Given the description of an element on the screen output the (x, y) to click on. 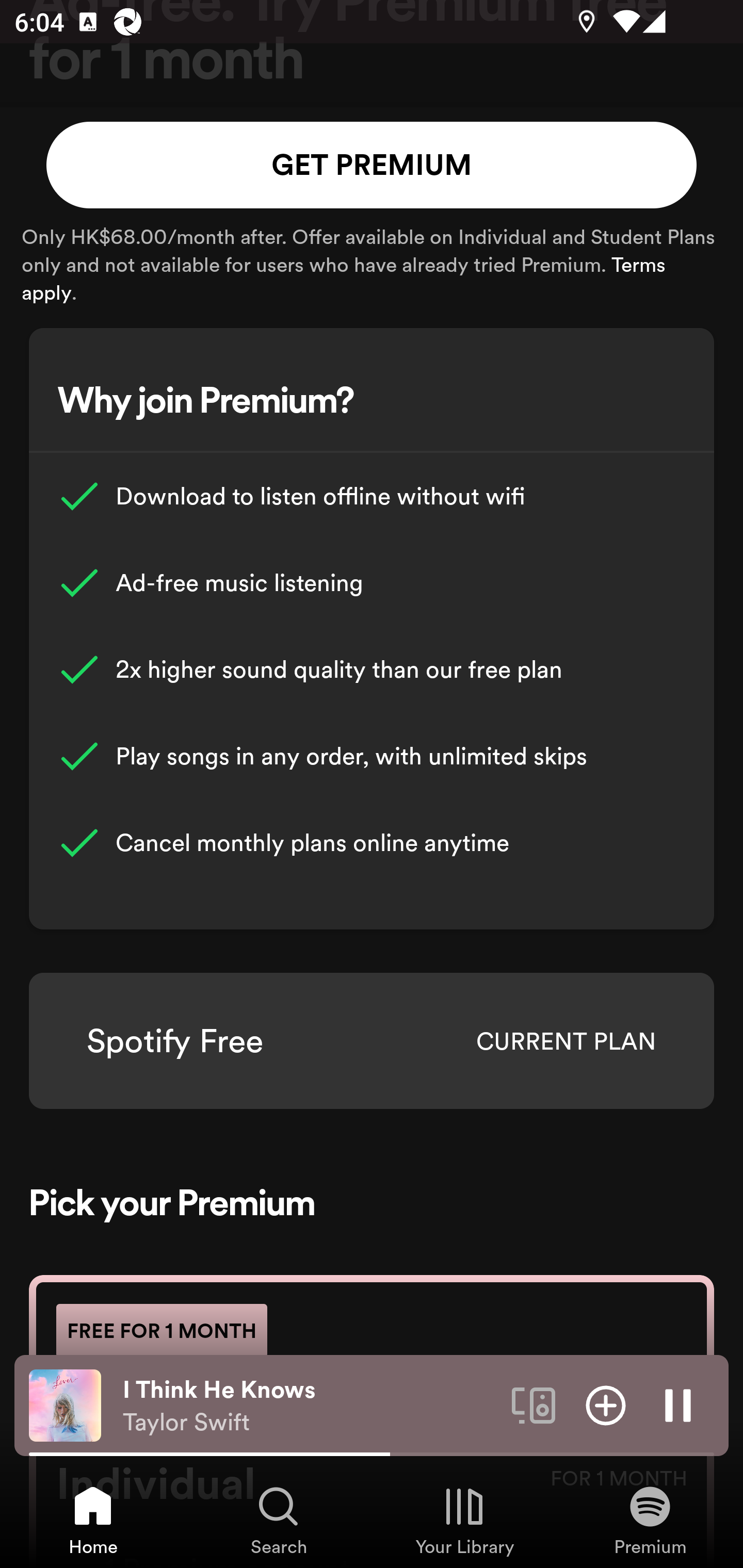
GET PREMIUM (371, 165)
I Think He Knows Taylor Swift (309, 1405)
The cover art of the currently playing track (64, 1404)
Connect to a device. Opens the devices menu (533, 1404)
Add item (605, 1404)
Pause (677, 1404)
Home, Tab 1 of 4 Home Home (92, 1519)
Search, Tab 2 of 4 Search Search (278, 1519)
Your Library, Tab 3 of 4 Your Library Your Library (464, 1519)
Premium, Tab 4 of 4 Premium Premium (650, 1519)
